Given the description of an element on the screen output the (x, y) to click on. 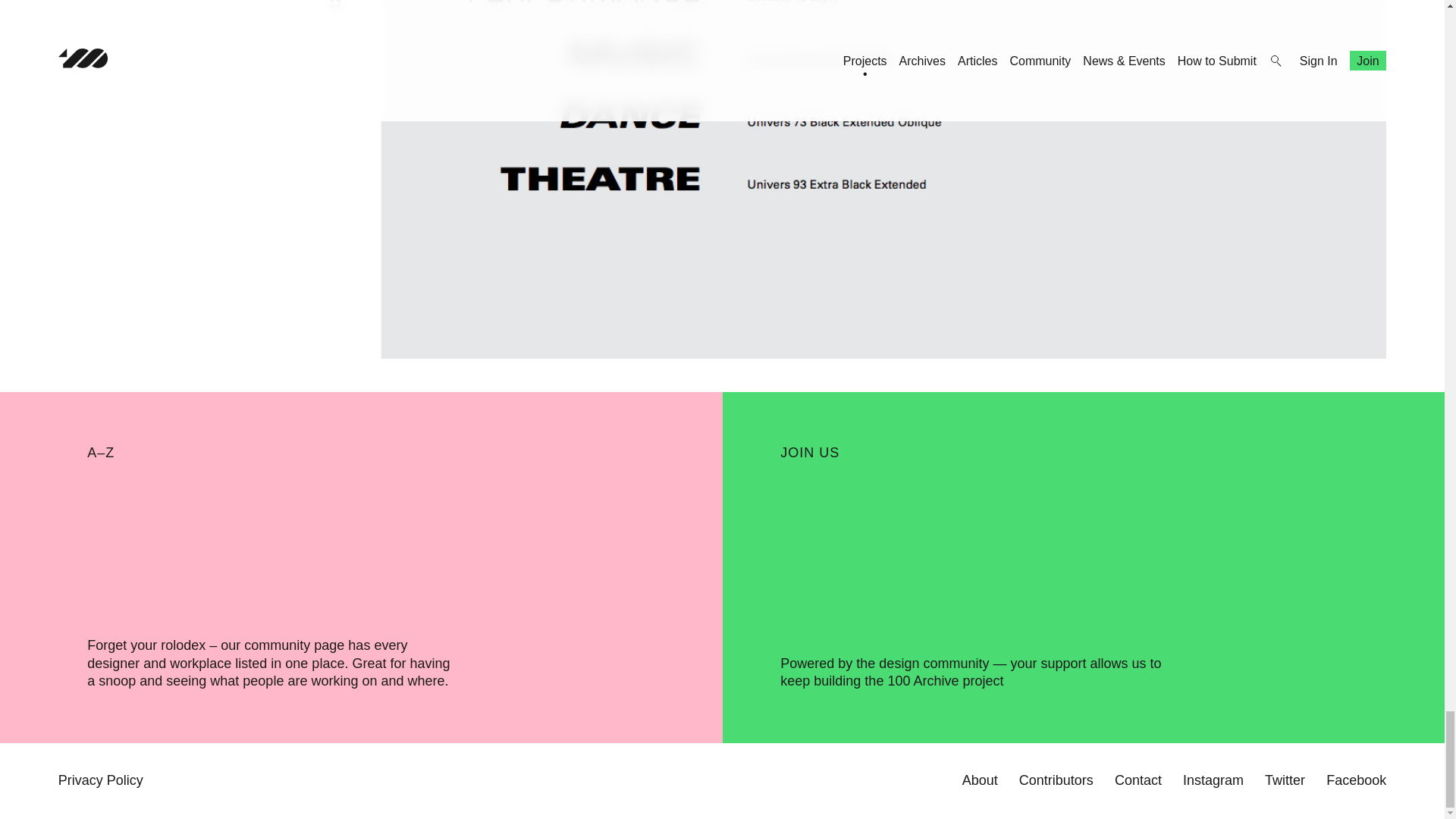
About (979, 780)
Contact (1138, 780)
Twitter (1284, 780)
Facebook (1356, 780)
Instagram (1212, 780)
Contributors (1056, 780)
Privacy Policy (100, 780)
